Given the description of an element on the screen output the (x, y) to click on. 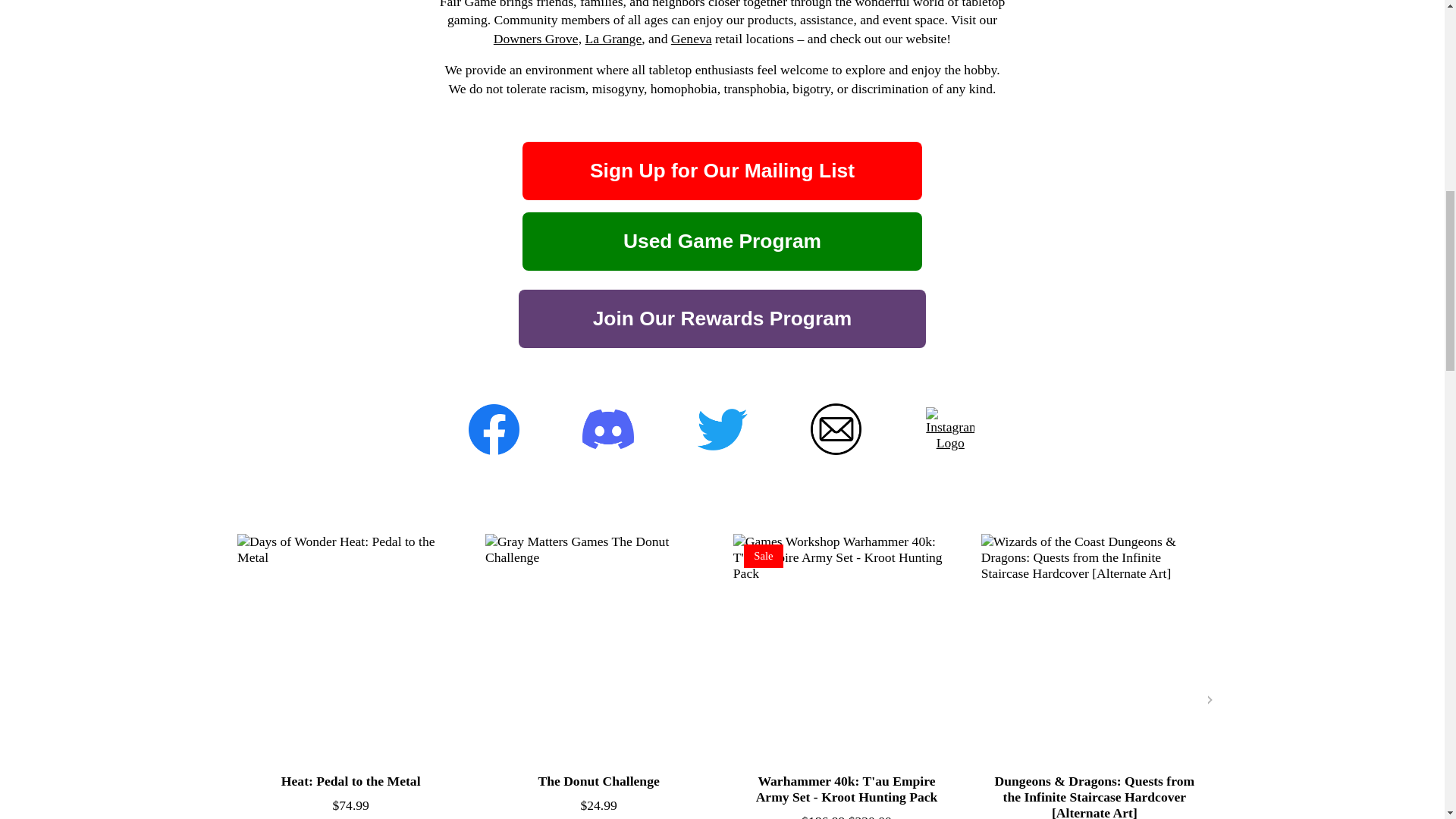
Days of Wonder Heat: Pedal to the Metal (349, 646)
Gray Matters Games The Donut Challenge (597, 646)
